Given the description of an element on the screen output the (x, y) to click on. 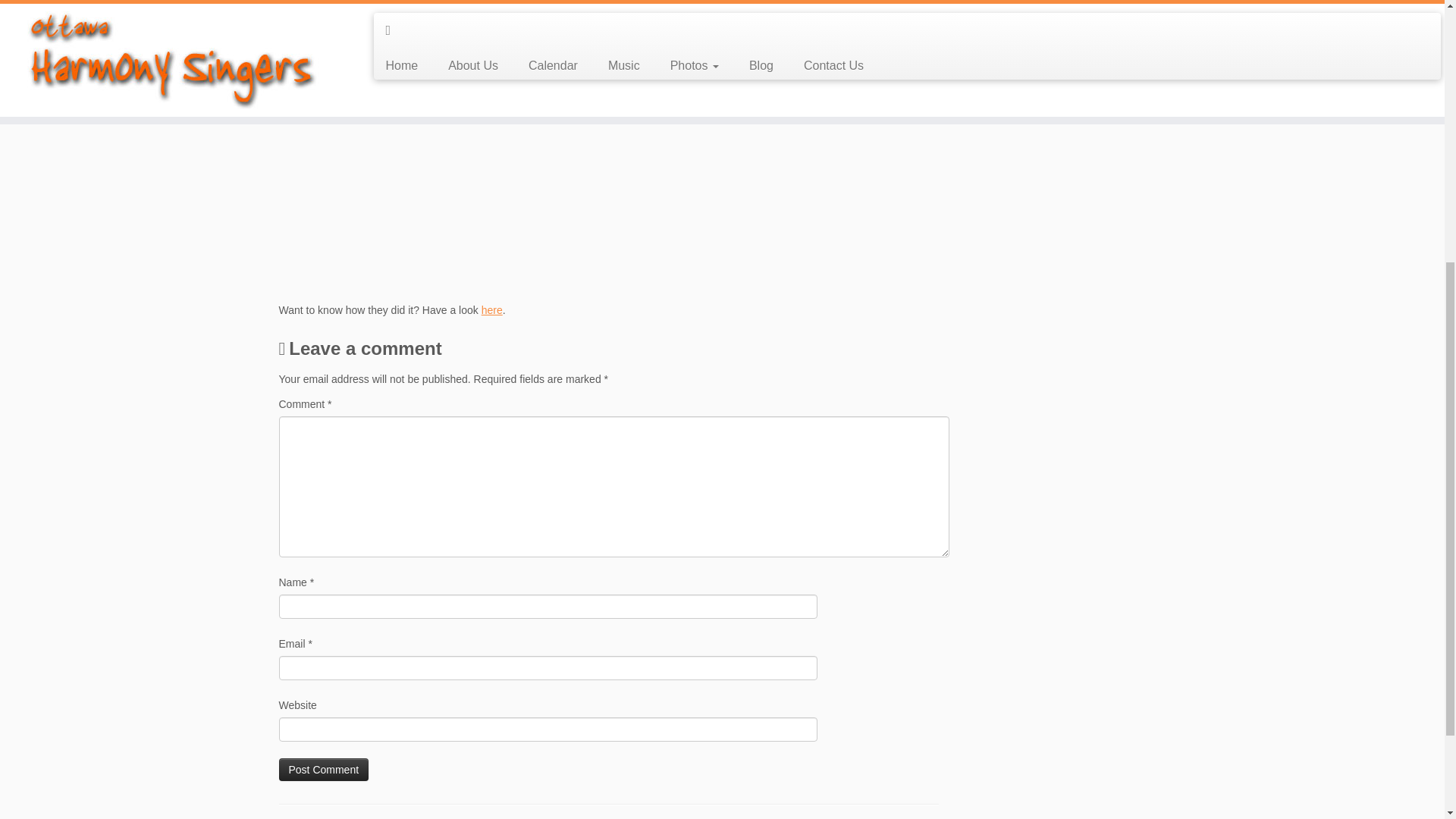
Post Comment (324, 769)
Post Comment (324, 769)
here (491, 309)
